Given the description of an element on the screen output the (x, y) to click on. 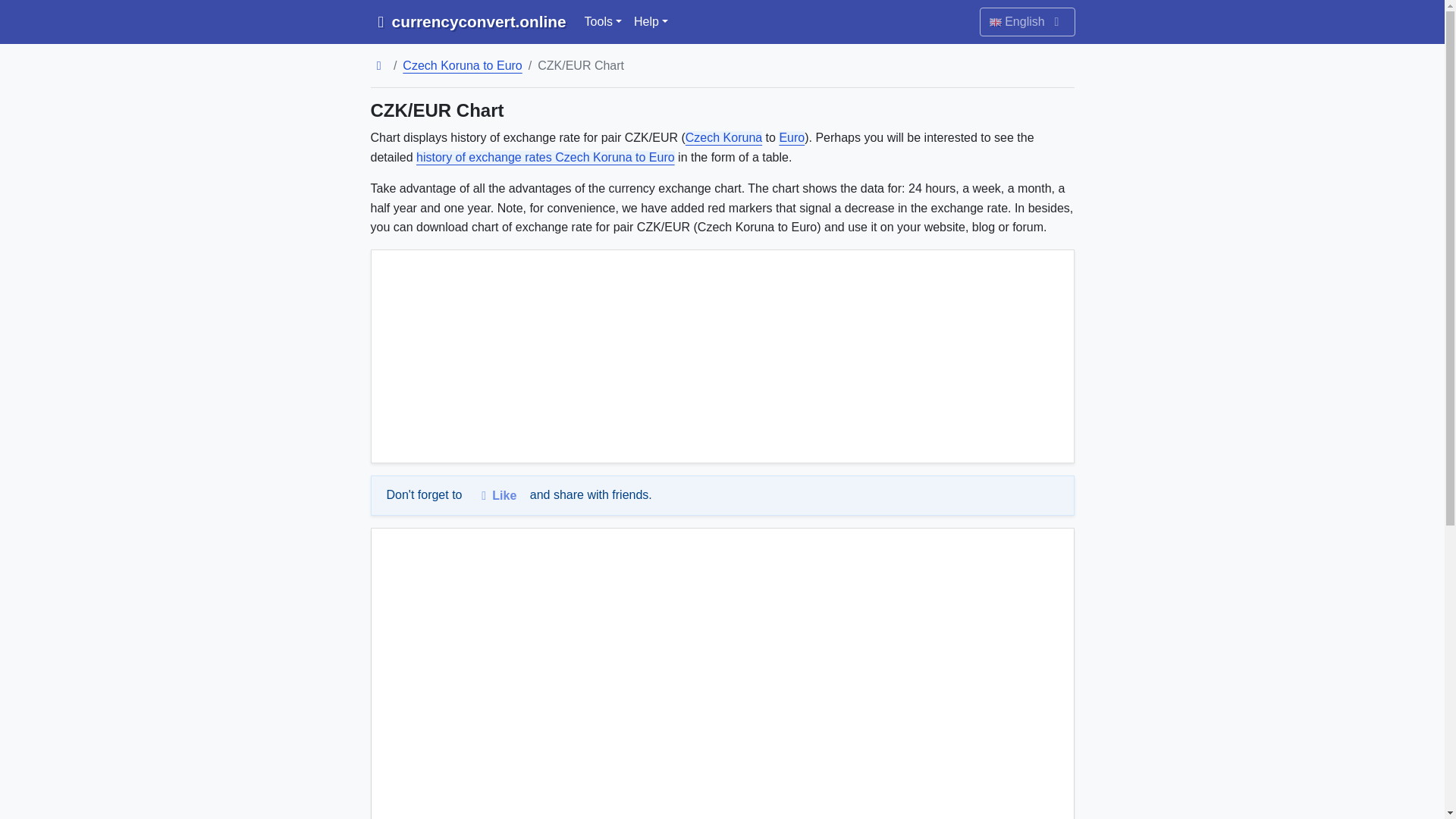
Tools (602, 21)
Euro (791, 137)
English (1027, 21)
Czech Koruna to Euro (462, 65)
history of exchange rates Czech Koruna to Euro (545, 156)
Czech Koruna (723, 137)
Help (650, 21)
Like (495, 496)
currencyconvert.online (467, 22)
